Given the description of an element on the screen output the (x, y) to click on. 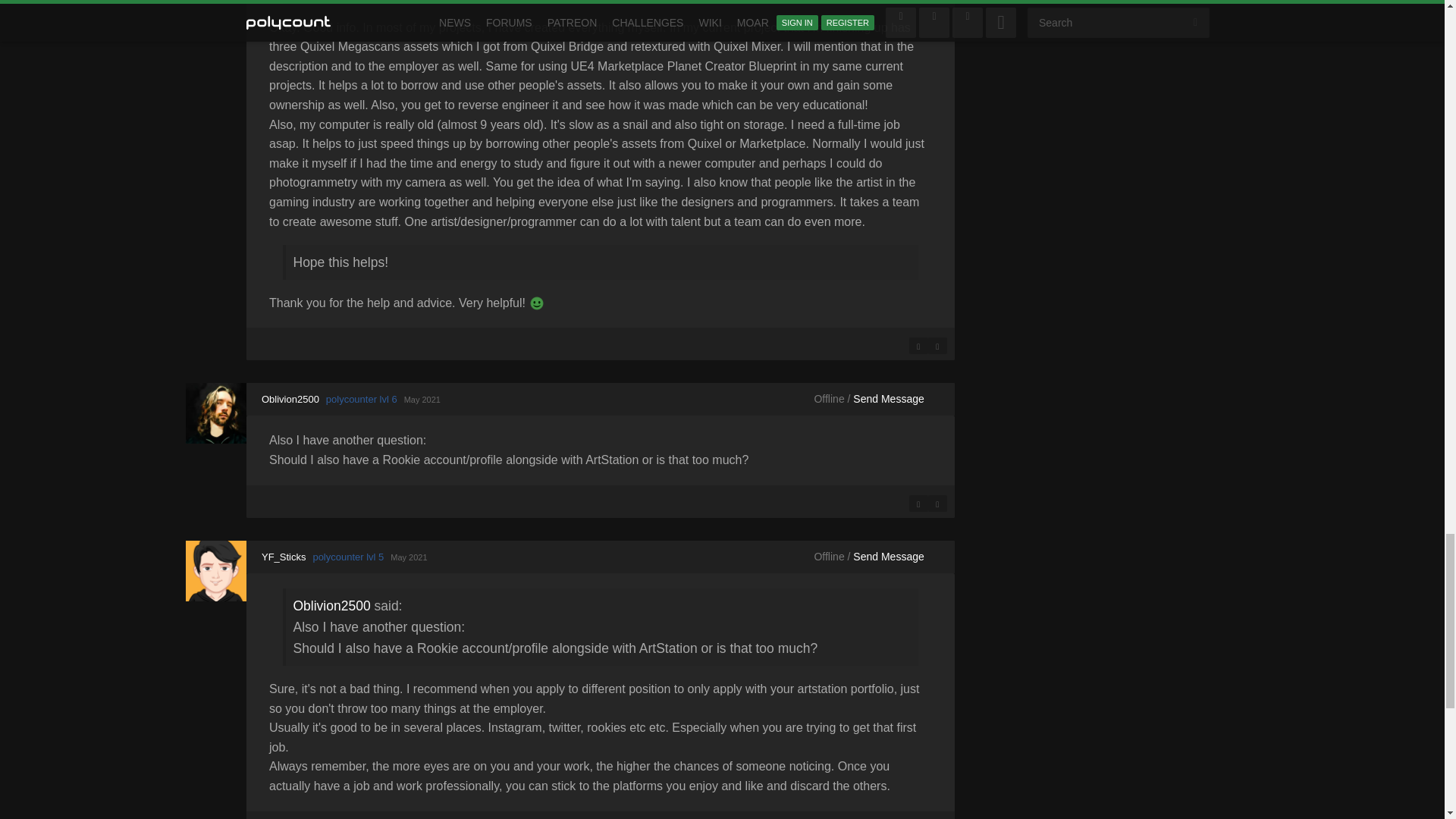
polycounter lvl 6 (361, 398)
Oblivion2500 (216, 413)
May 4, 2021 3:08PM (422, 399)
